Given the description of an element on the screen output the (x, y) to click on. 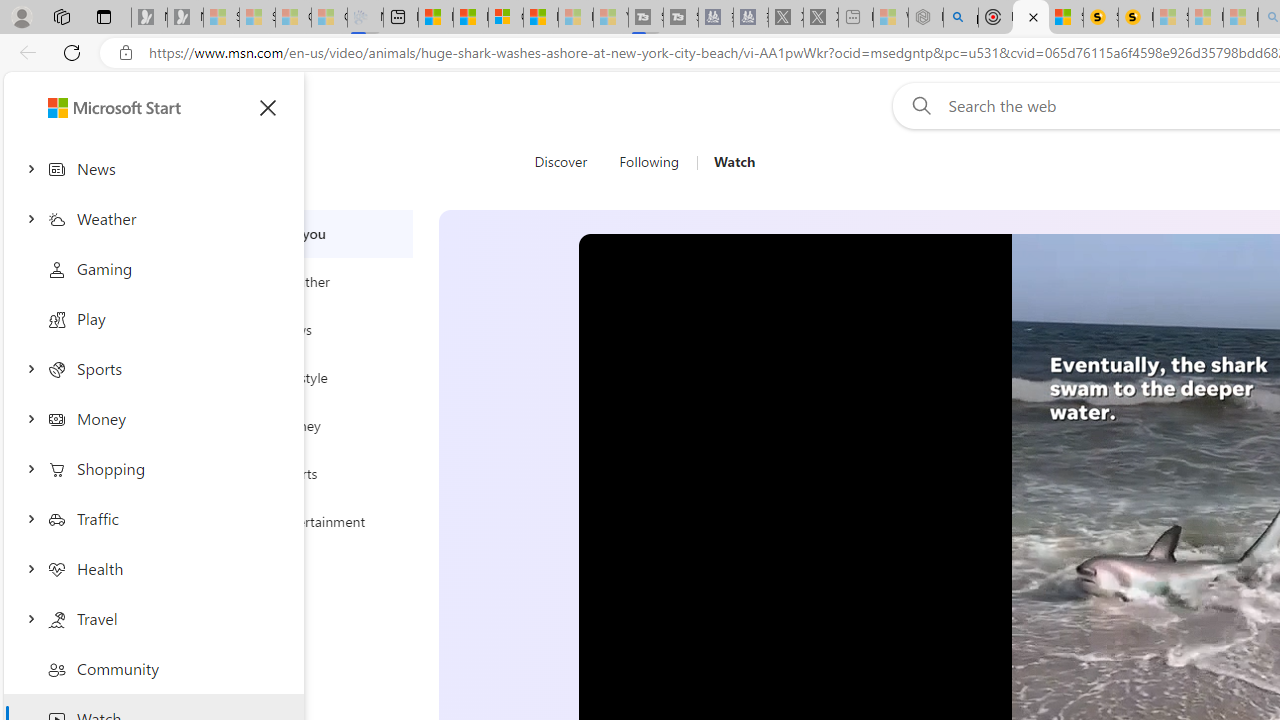
Discover (560, 162)
Following (648, 162)
Nordace - Summer Adventures 2024 - Sleeping (925, 17)
Streaming Coverage | T3 - Sleeping (645, 17)
poe - Search (960, 17)
New tab - Sleeping (855, 17)
X - Sleeping (820, 17)
Watch (726, 162)
